Given the description of an element on the screen output the (x, y) to click on. 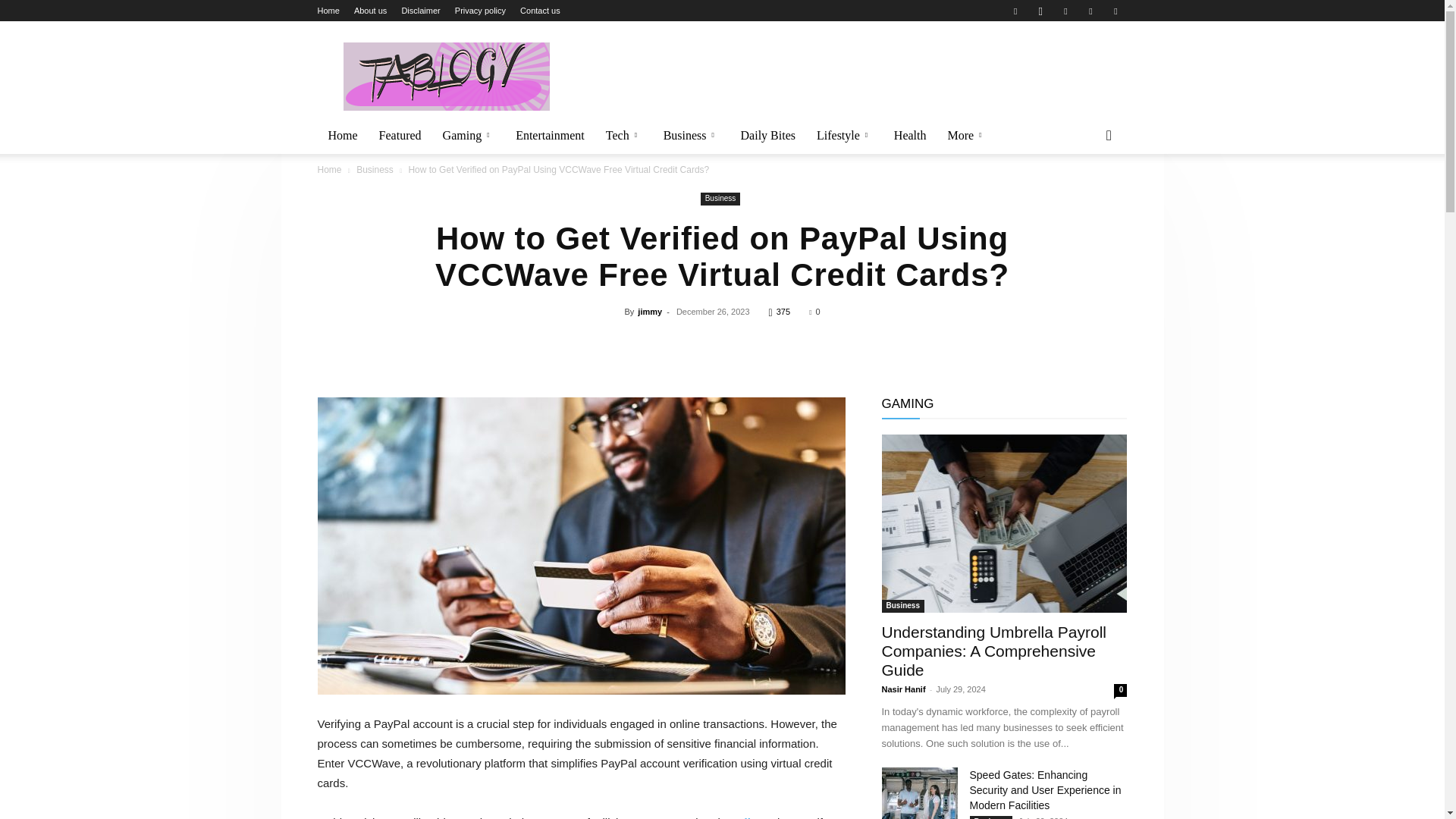
Home (328, 10)
Disclaimer (420, 10)
Privacy policy (479, 10)
Vimeo (1090, 10)
Youtube (1114, 10)
Instagram (1040, 10)
View all posts in Business (374, 169)
Twitter (1065, 10)
About us (370, 10)
Facebook (1015, 10)
